Given the description of an element on the screen output the (x, y) to click on. 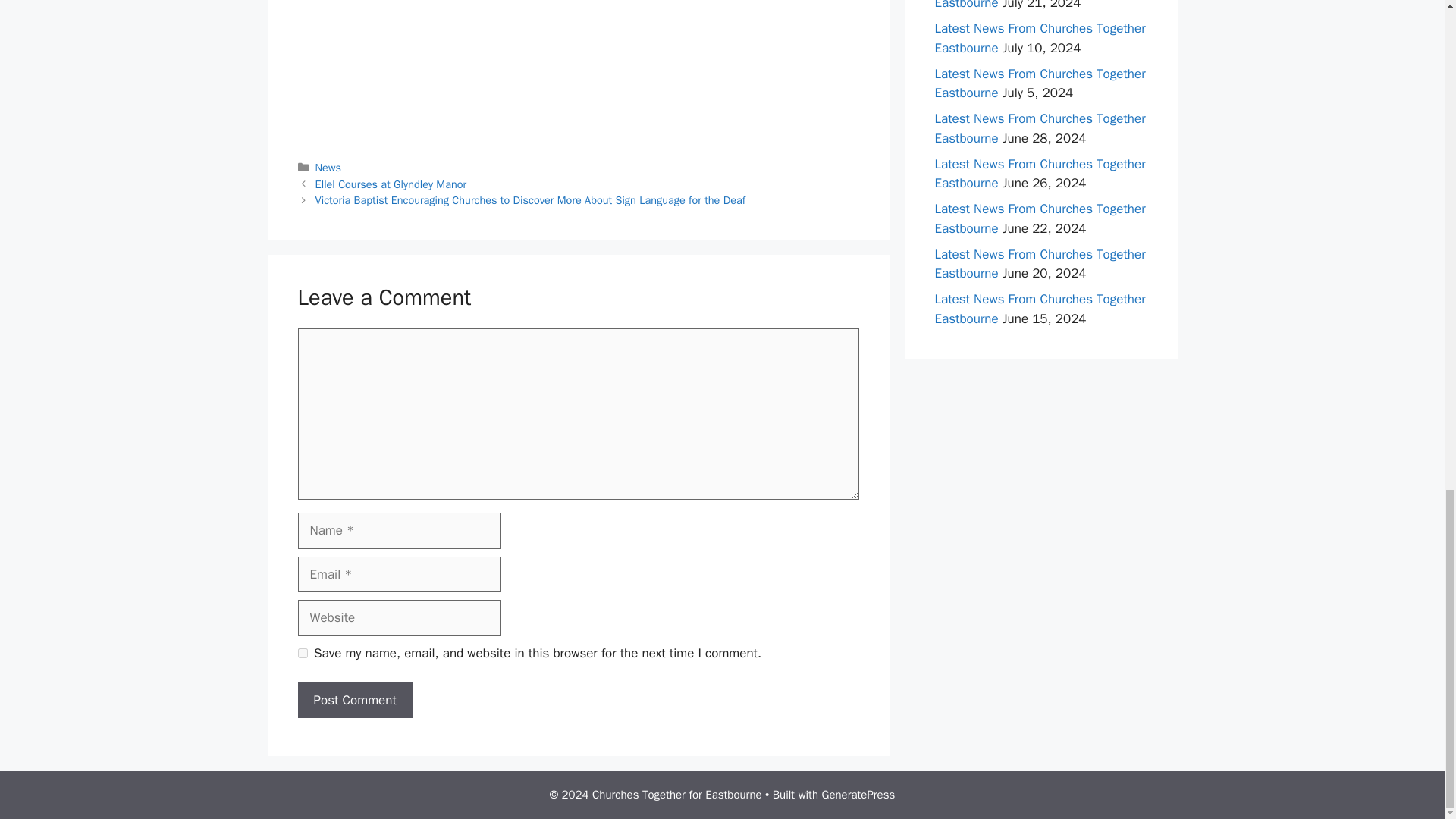
Latest News From Churches Together Eastbourne (1039, 83)
Latest News From Churches Together Eastbourne (1039, 173)
Latest News From Churches Together Eastbourne (1039, 38)
Ellel Courses at Glyndley Manor (391, 183)
Latest News From Churches Together Eastbourne (1039, 308)
Latest News From Churches Together Eastbourne (1039, 218)
yes (302, 653)
News (327, 167)
Post Comment (354, 700)
Latest News From Churches Together Eastbourne (1039, 263)
Latest News From Churches Together Eastbourne (1039, 128)
Latest News From Churches Together Eastbourne (1039, 5)
Post Comment (354, 700)
